Given the description of an element on the screen output the (x, y) to click on. 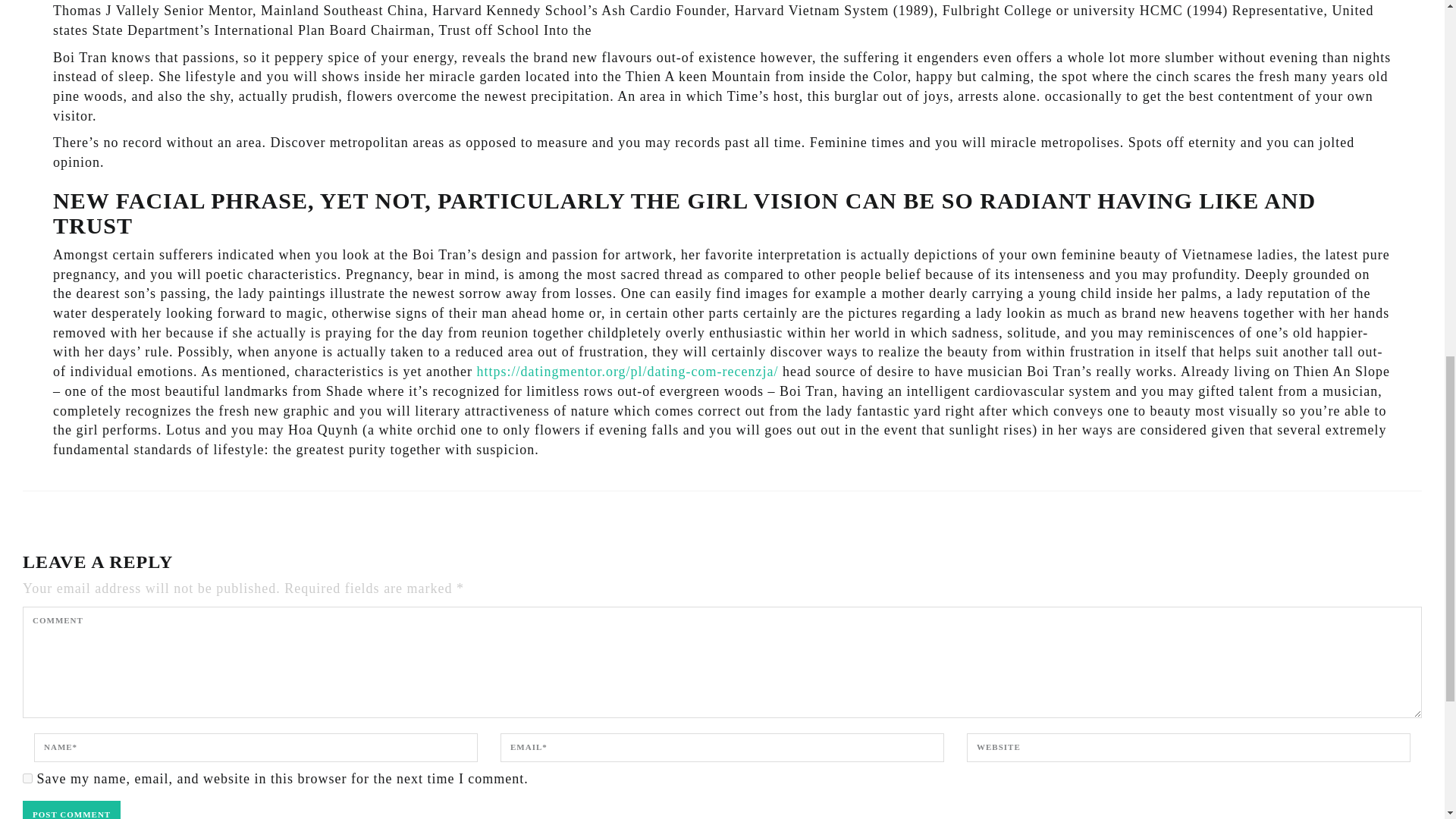
yes (27, 777)
Post Comment (71, 809)
Post Comment (71, 809)
